Given the description of an element on the screen output the (x, y) to click on. 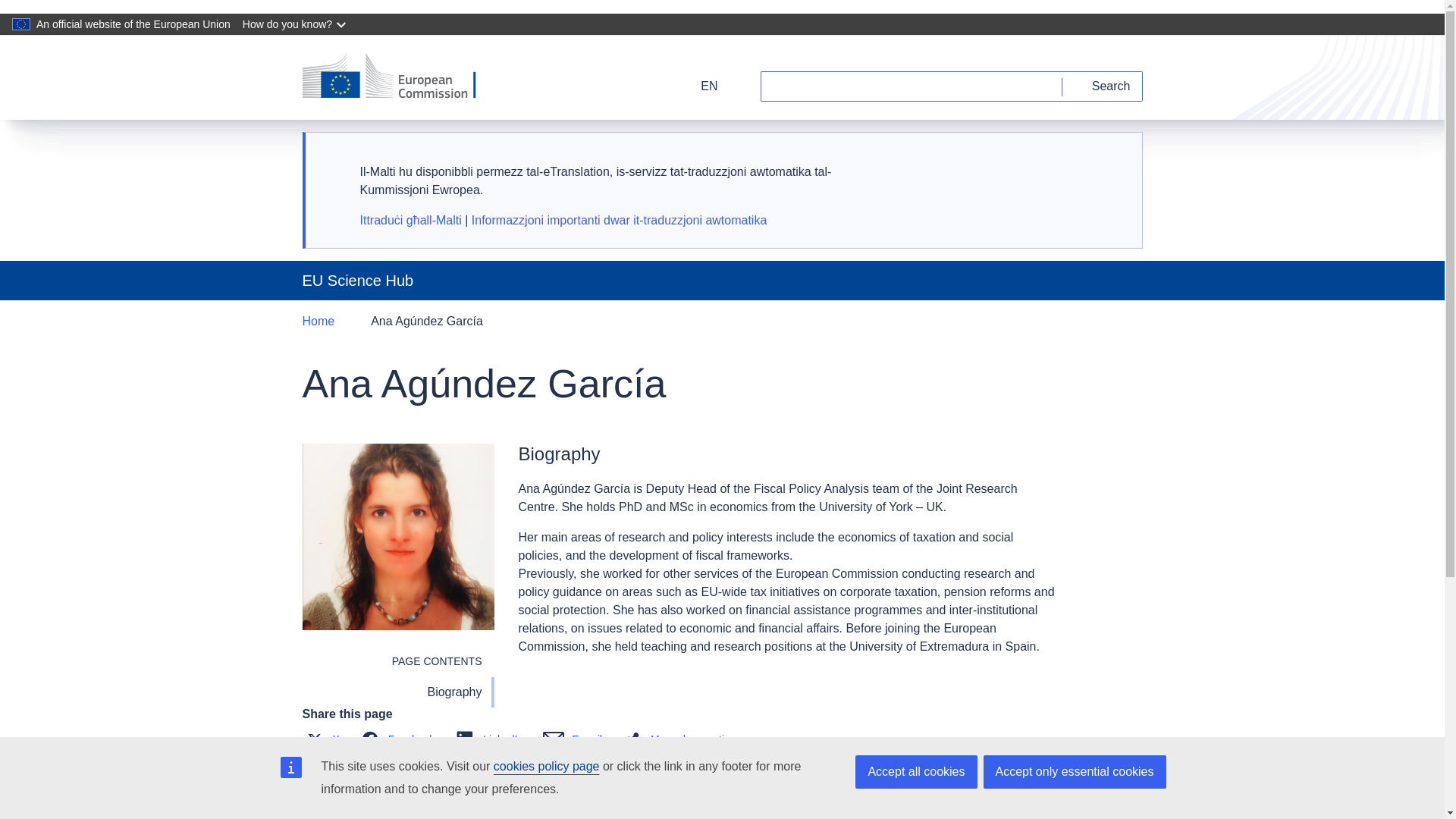
More share options (685, 739)
cookies policy page (546, 766)
European Commission (399, 77)
Facebook (401, 739)
Biography (397, 692)
How do you know? (295, 24)
X (324, 739)
Accept only essential cookies (1074, 771)
EN (699, 86)
